Given the description of an element on the screen output the (x, y) to click on. 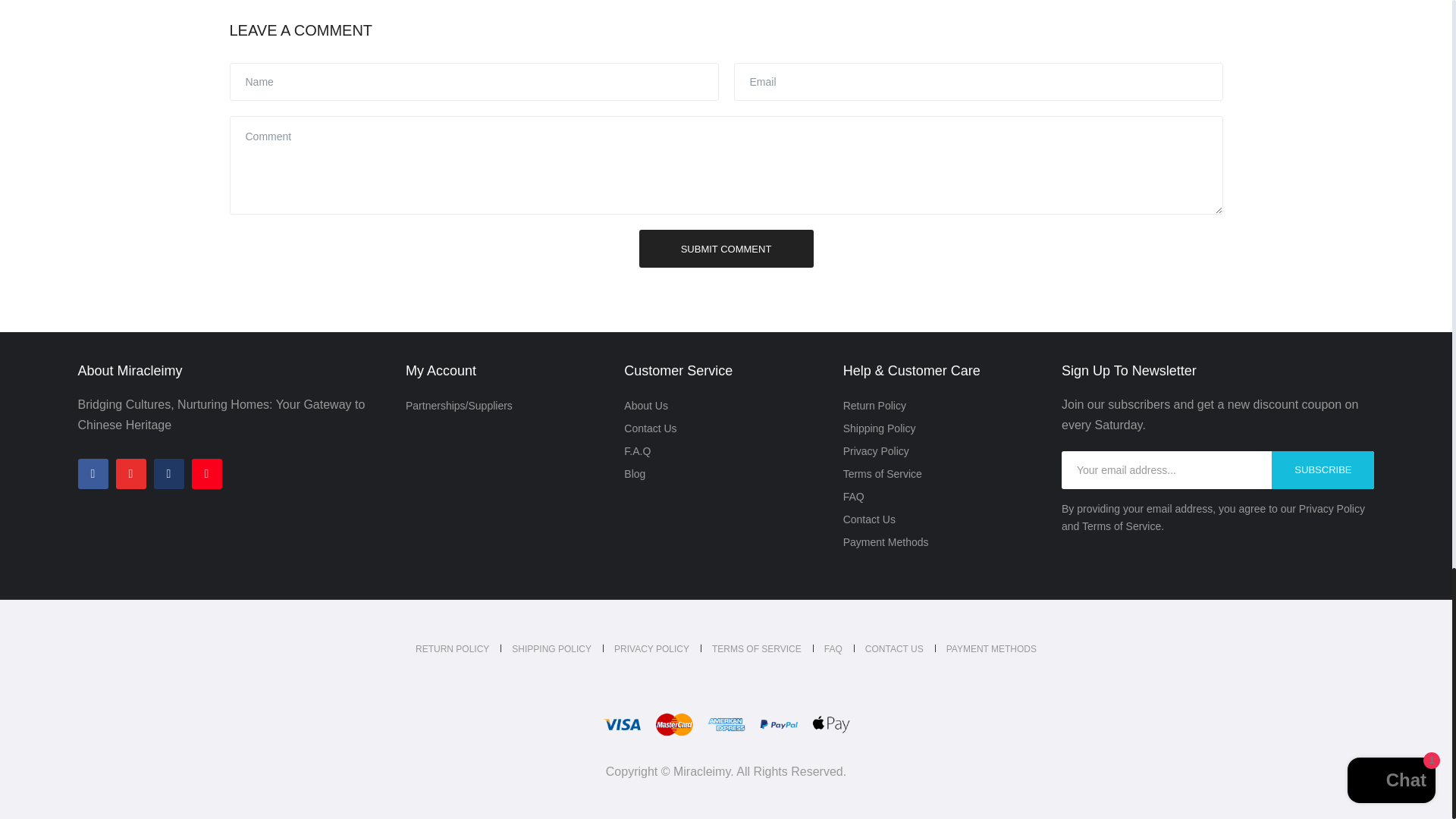
Facebook (92, 473)
